Given the description of an element on the screen output the (x, y) to click on. 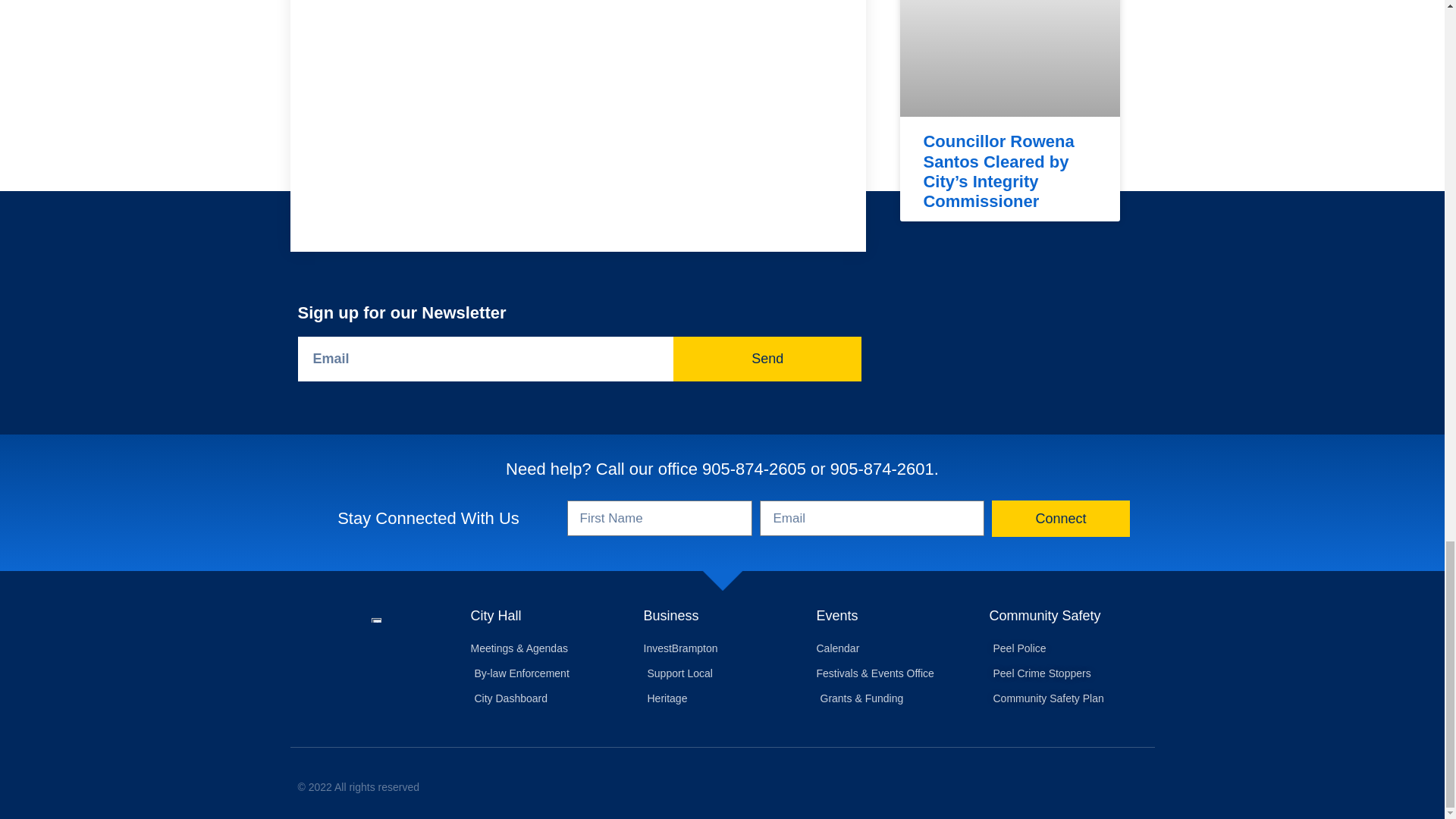
Connect (1060, 518)
By-law Enforcement (548, 672)
Support Local (721, 672)
Send (766, 358)
InvestBrampton (721, 648)
City Dashboard (548, 698)
